Given the description of an element on the screen output the (x, y) to click on. 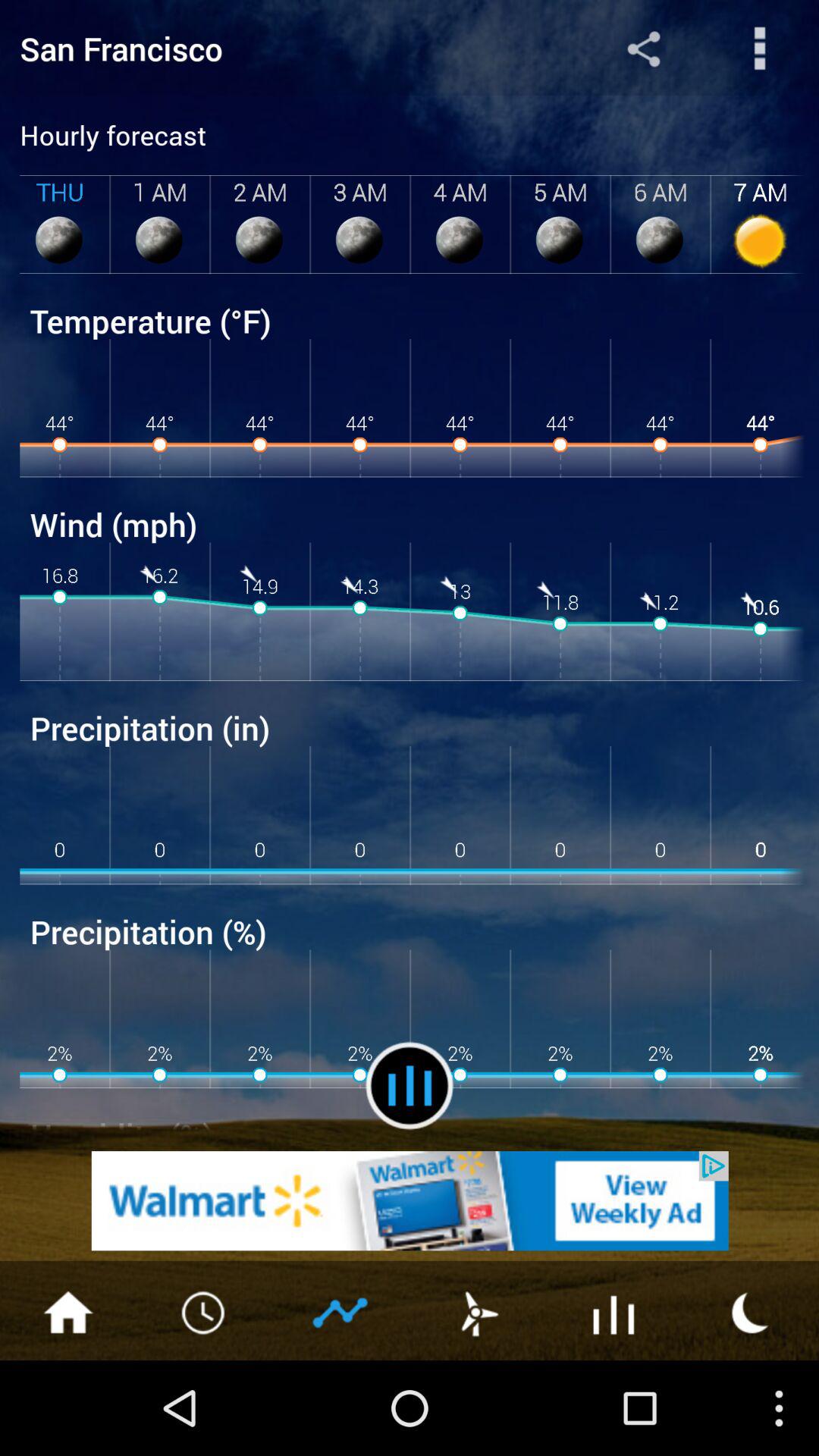
go to advertisement (409, 1200)
